Given the description of an element on the screen output the (x, y) to click on. 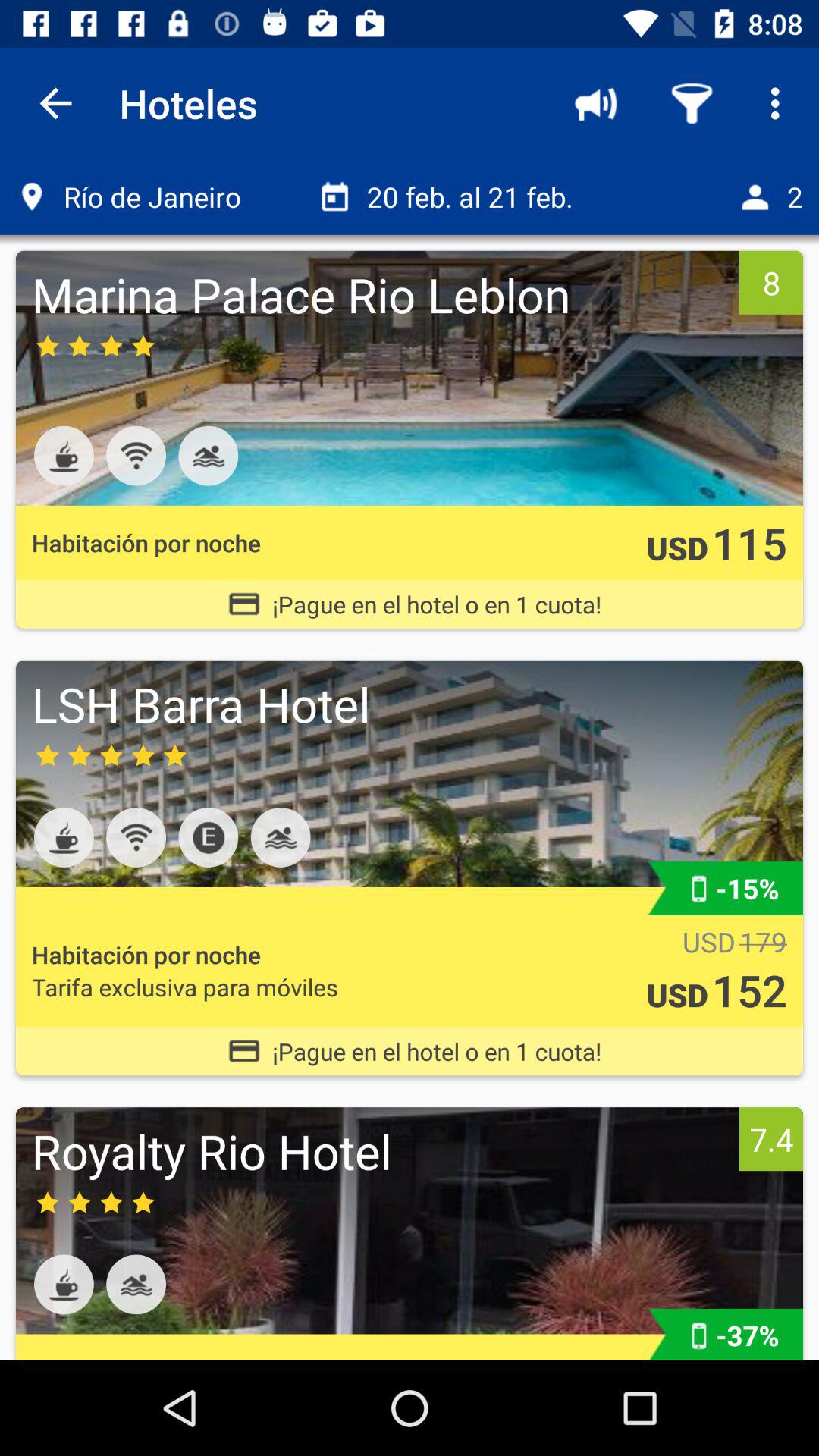
swipe until 7.4 icon (771, 1139)
